Given the description of an element on the screen output the (x, y) to click on. 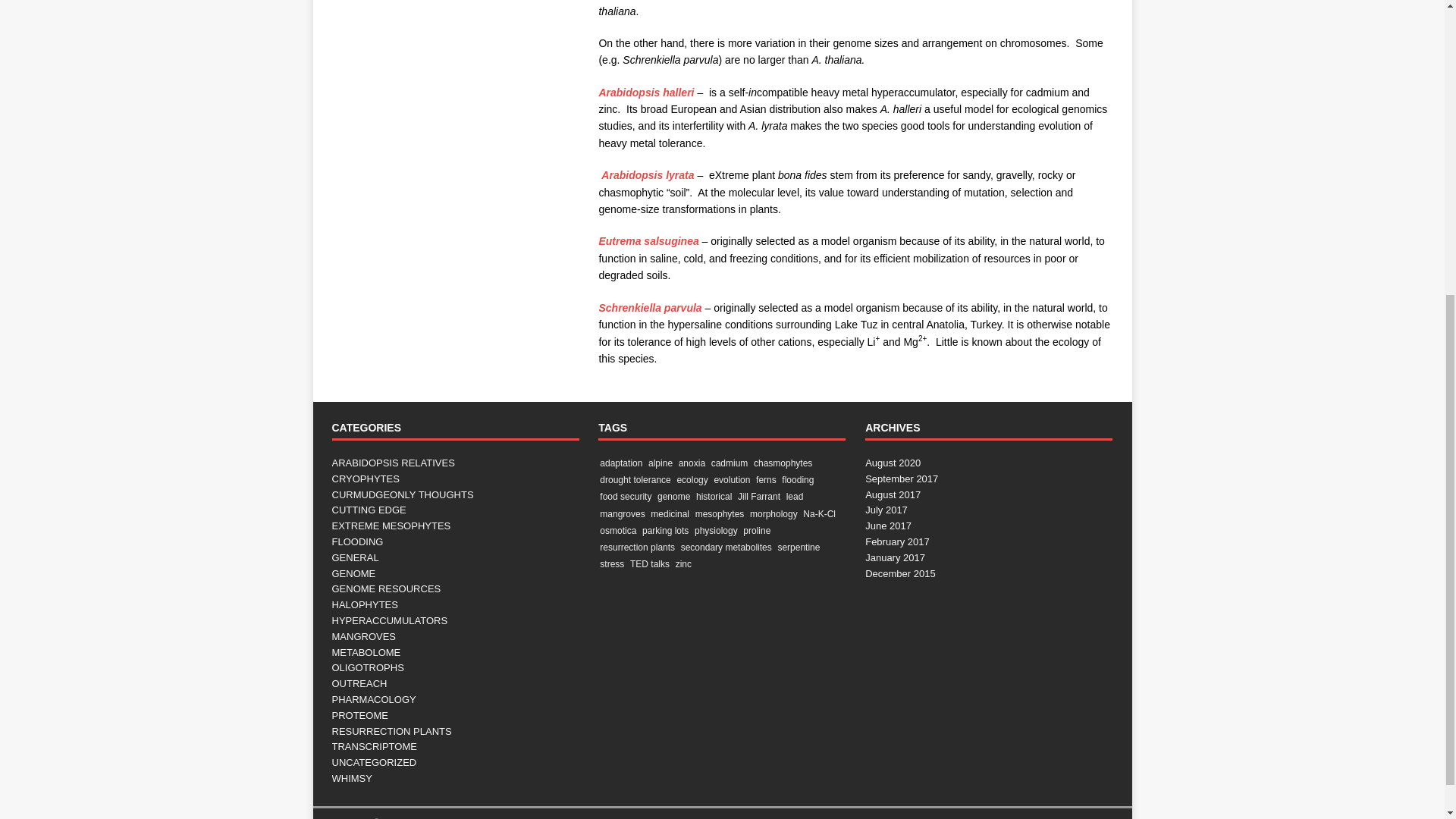
CUTTING EDGE (455, 510)
Arabidopsis halleri (646, 92)
CURMUDGEONLY THOUGHTS (455, 495)
EXTREME MESOPHYTES (455, 526)
Schrenkiella parvula (649, 307)
CRYOPHYTES (455, 479)
Eutrema salsuginea (648, 241)
 Arabidopsis lyrata (646, 174)
ARABIDOPSIS RELATIVES (455, 463)
